Given the description of an element on the screen output the (x, y) to click on. 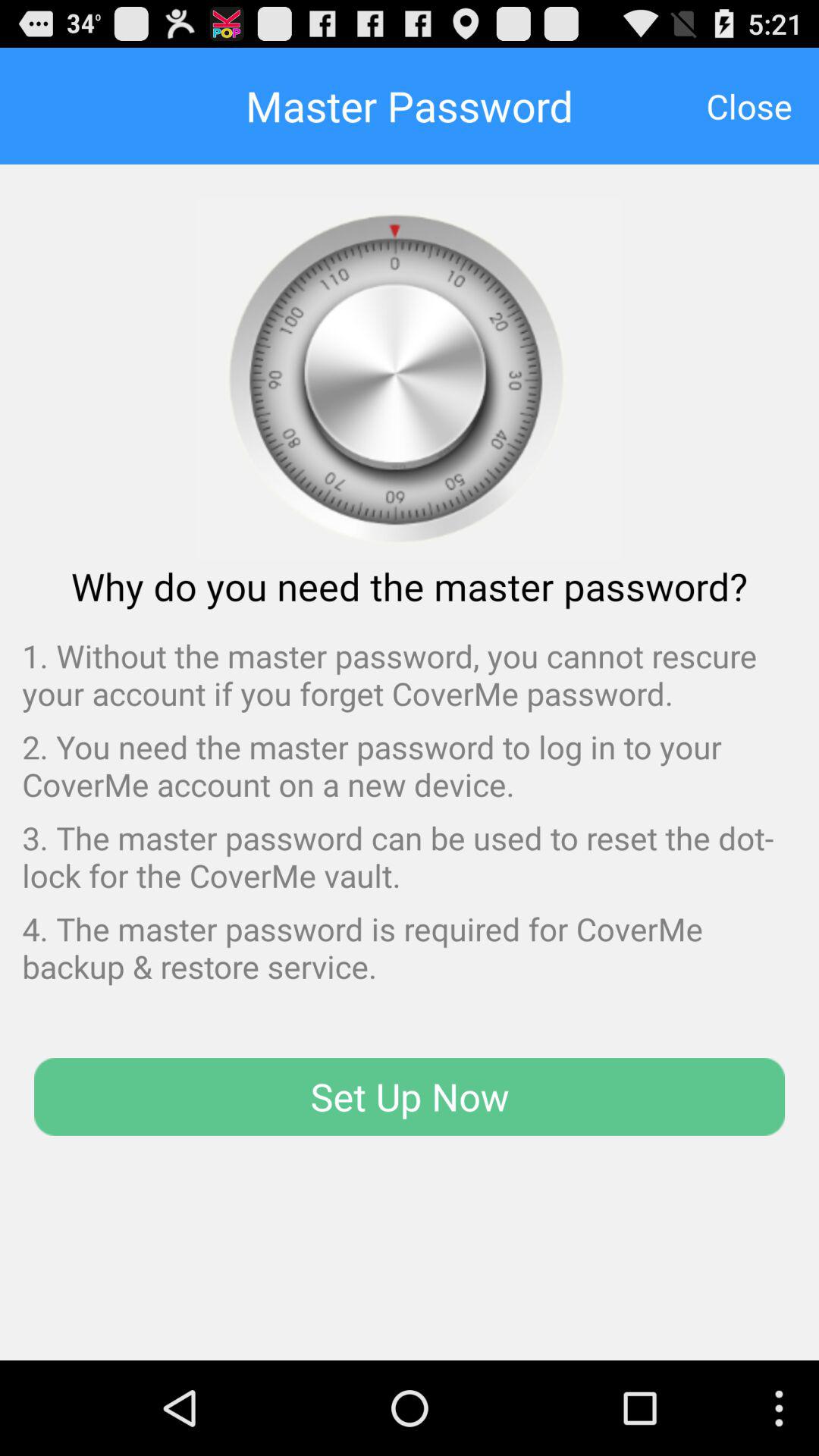
press the item above the why do you app (749, 106)
